Given the description of an element on the screen output the (x, y) to click on. 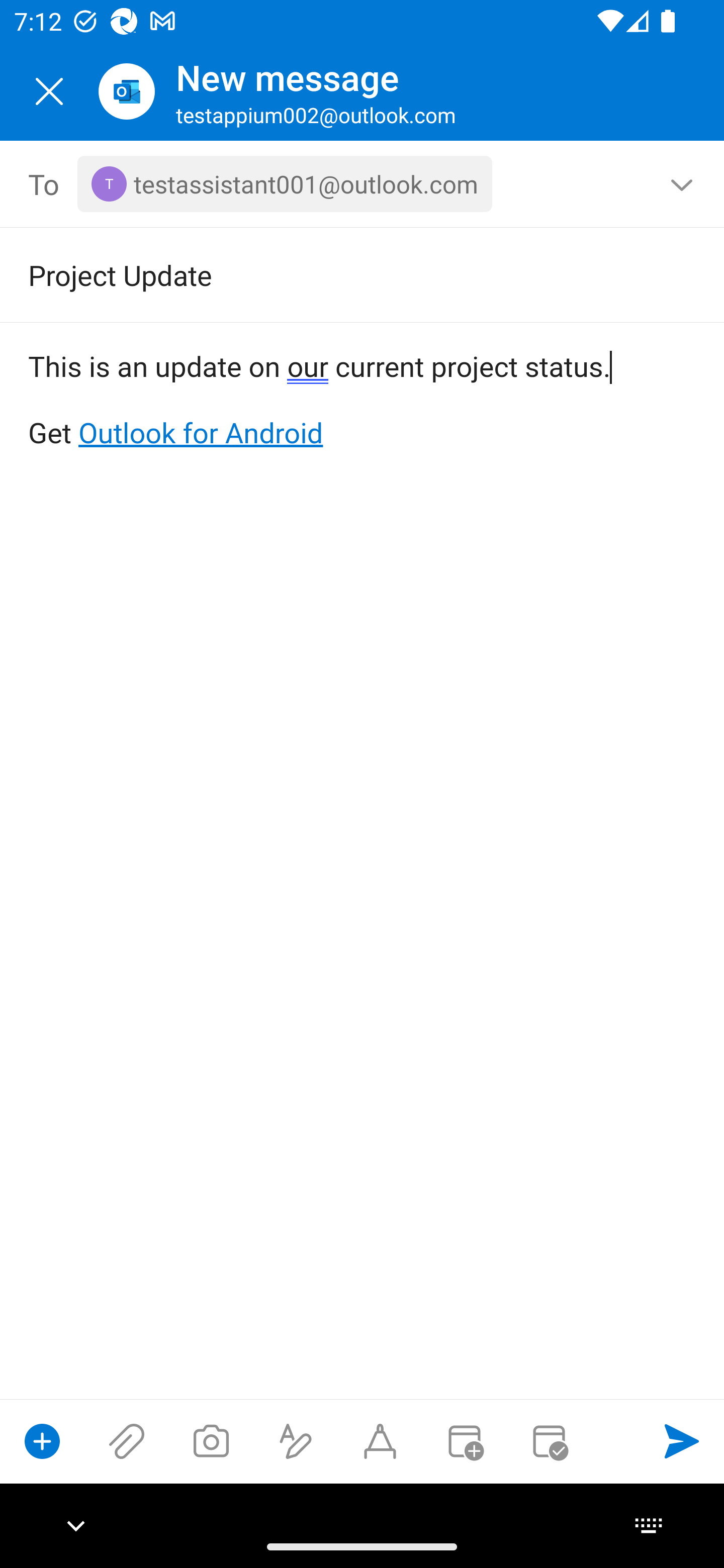
Close (49, 91)
To, 1 recipient <testassistant001@outlook.com> (362, 184)
Project Update (333, 274)
Show compose options (42, 1440)
Attach files (126, 1440)
Take a photo (210, 1440)
Show formatting options (295, 1440)
Start Ink compose (380, 1440)
Convert to event (464, 1440)
Send availability (548, 1440)
Send (681, 1440)
